Given the description of an element on the screen output the (x, y) to click on. 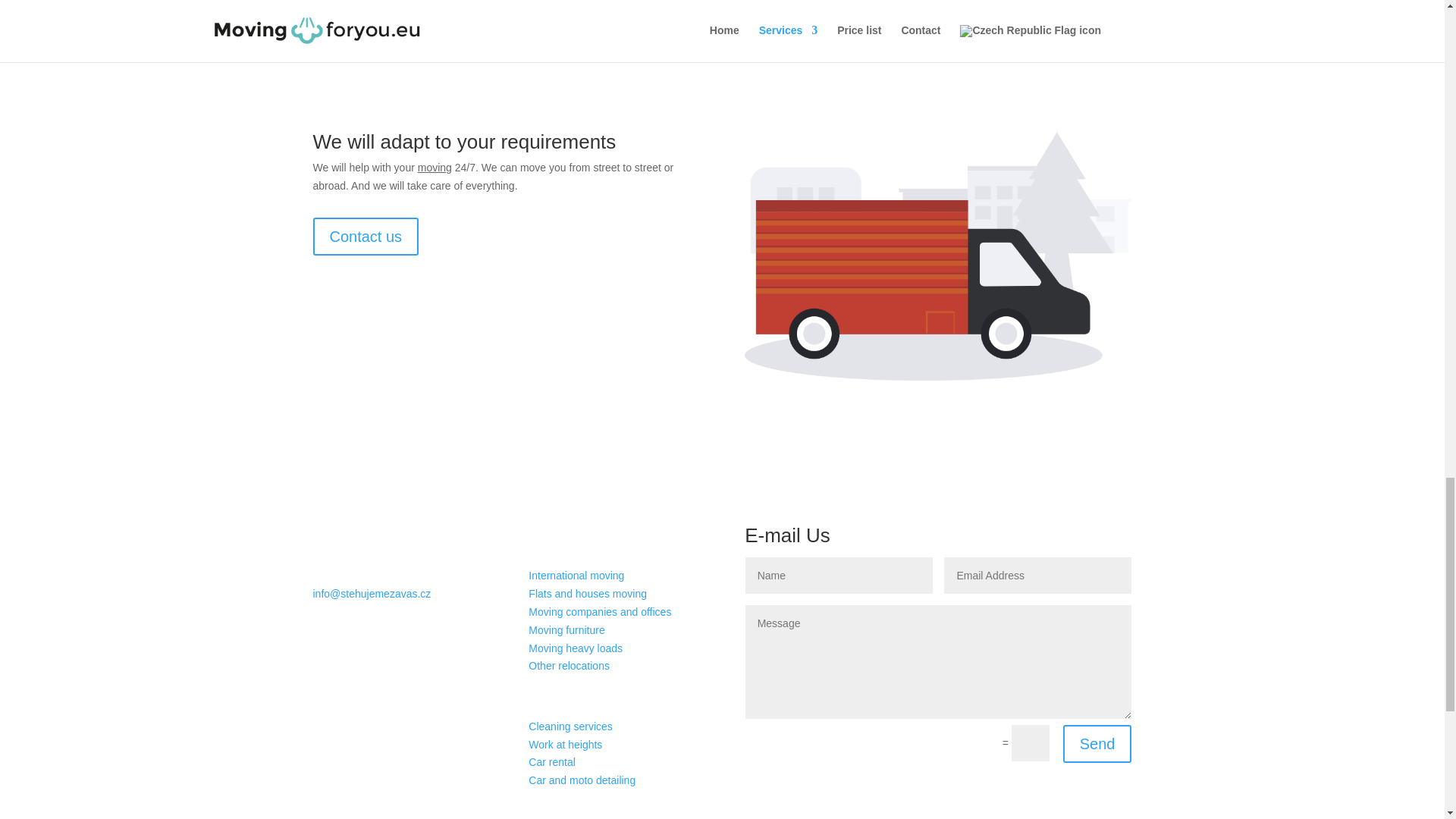
Send (1097, 743)
Other relocations (569, 665)
Moving companies and offices (599, 612)
Moving services Pilsen (434, 167)
Work at heights (565, 744)
Car and moto detailing (581, 779)
Car rental (551, 761)
Moving furniture (566, 630)
Contact us (366, 236)
Flats and houses moving (587, 593)
